Given the description of an element on the screen output the (x, y) to click on. 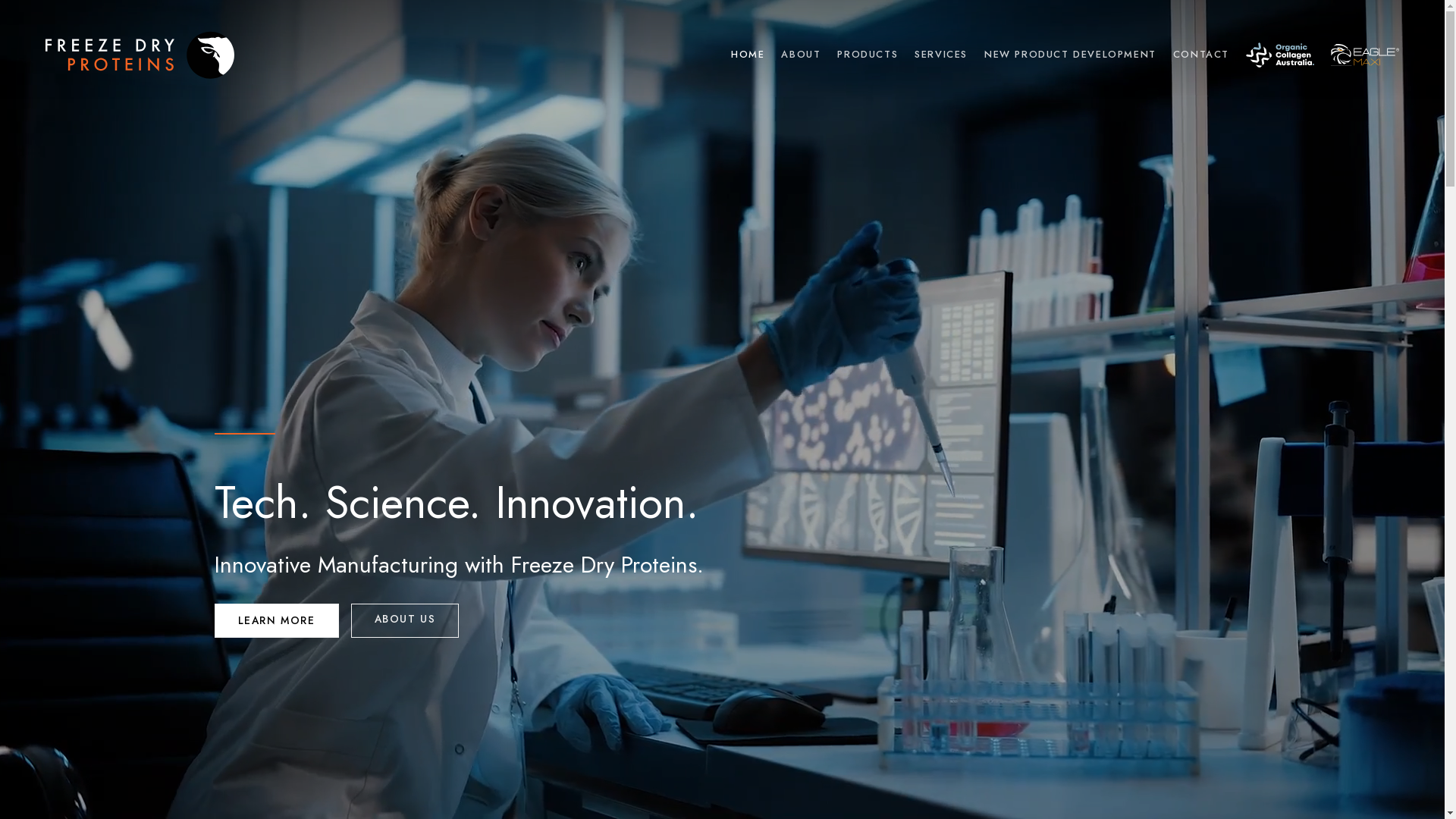
SERVICES Element type: text (940, 54)
CONTACT Element type: text (1201, 54)
ABOUT Element type: text (800, 54)
ABOUT US Element type: text (404, 620)
Freeze Dry Proteins Element type: hover (139, 55)
PRODUCTS Element type: text (867, 54)
NEW PRODUCT DEVELOPMENT Element type: text (1070, 54)
HOME Element type: text (747, 54)
Skip to content Element type: text (0, 0)
LEARN MORE Element type: text (275, 620)
